Given the description of an element on the screen output the (x, y) to click on. 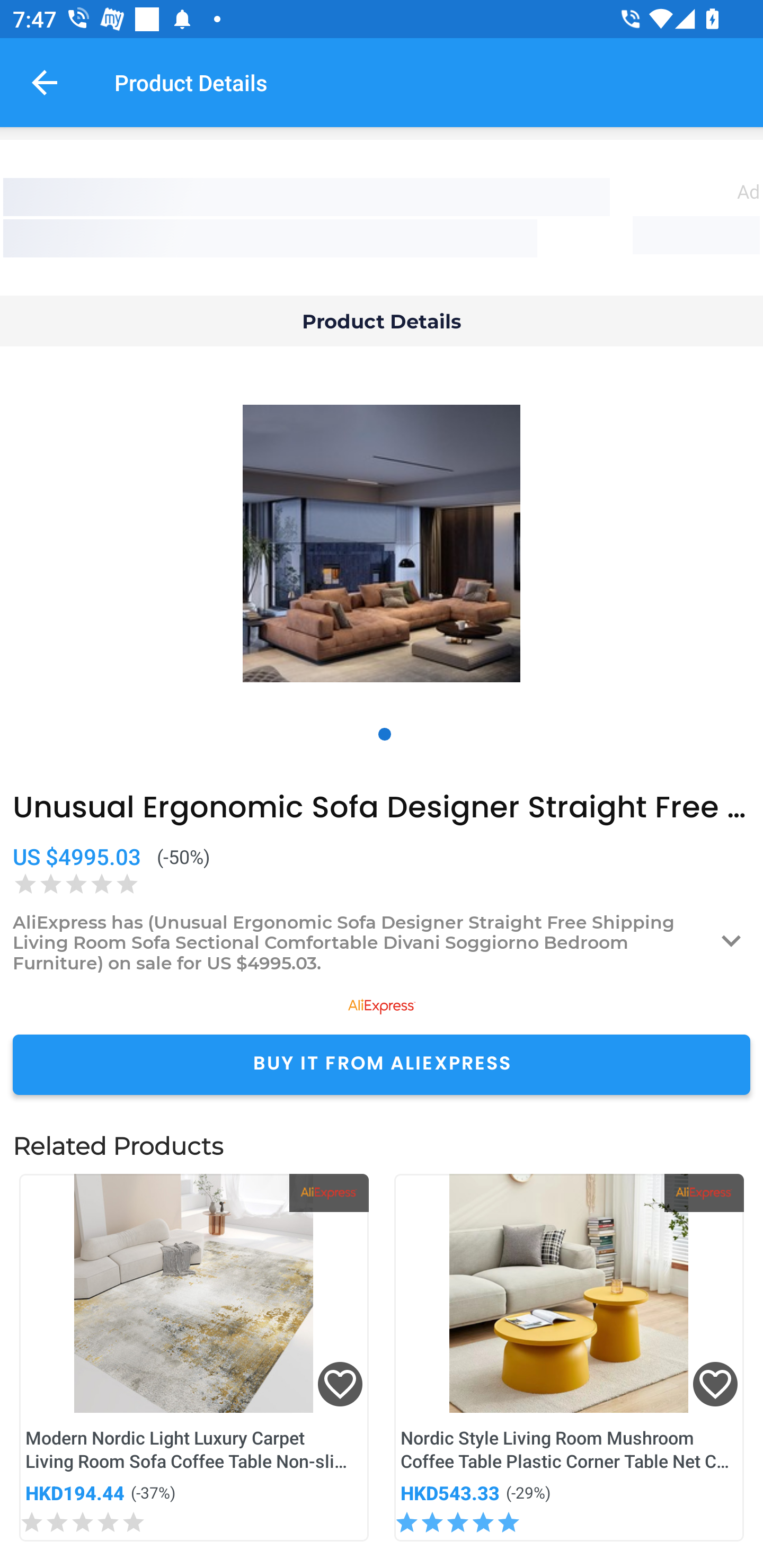
Navigate up (44, 82)
BUY IT FROM ALIEXPRESS (381, 1064)
